Given the description of an element on the screen output the (x, y) to click on. 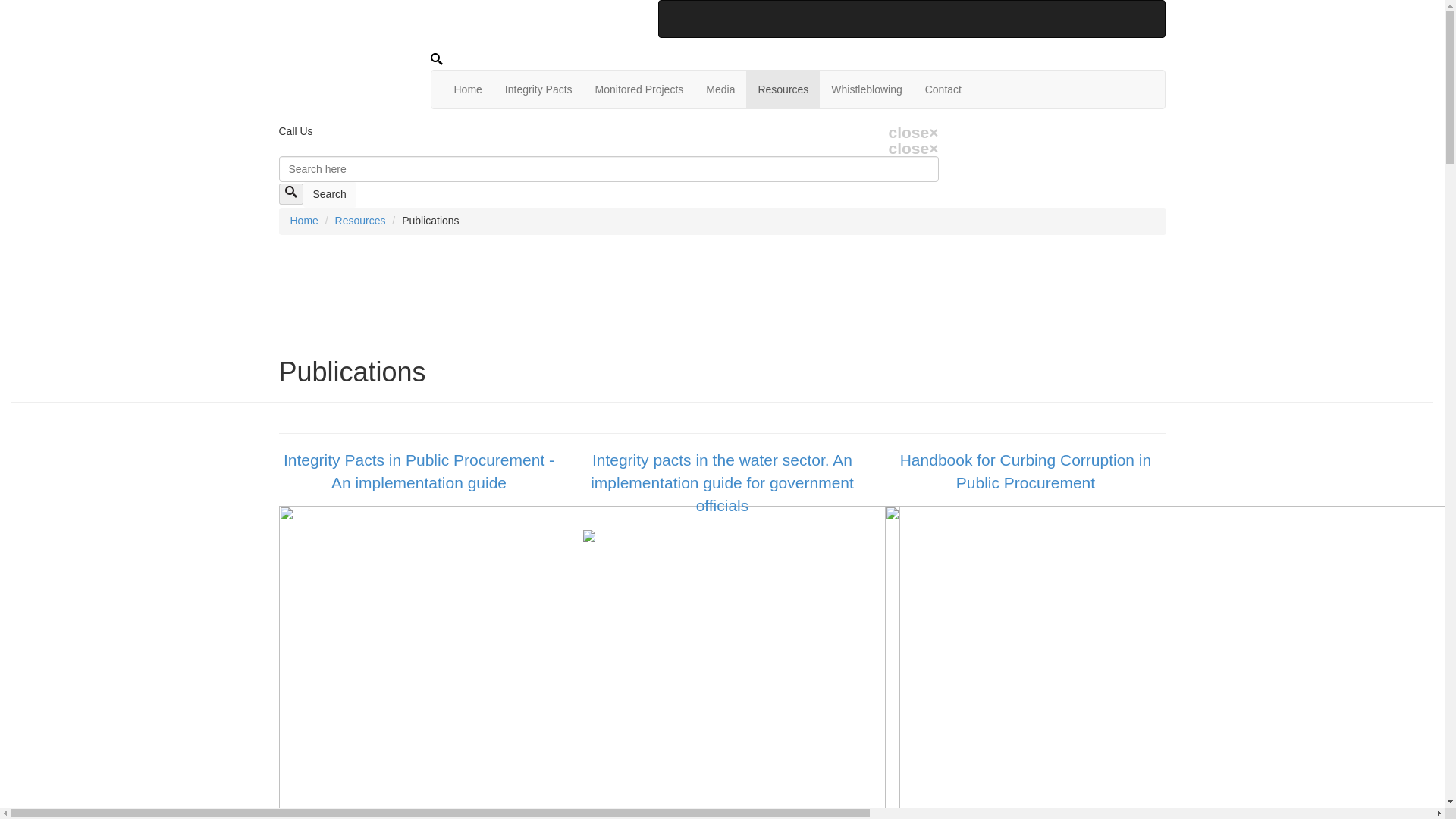
Enter the terms you wish to search for. (609, 168)
Integrity Pacts (538, 89)
Resources (359, 220)
Whistleblowing (865, 89)
Monitored Projects (639, 89)
Resources (782, 89)
Integrity Pacts (538, 89)
Handbook for Curbing Corruption in Public Procurement (1025, 471)
Media (719, 89)
